Given the description of an element on the screen output the (x, y) to click on. 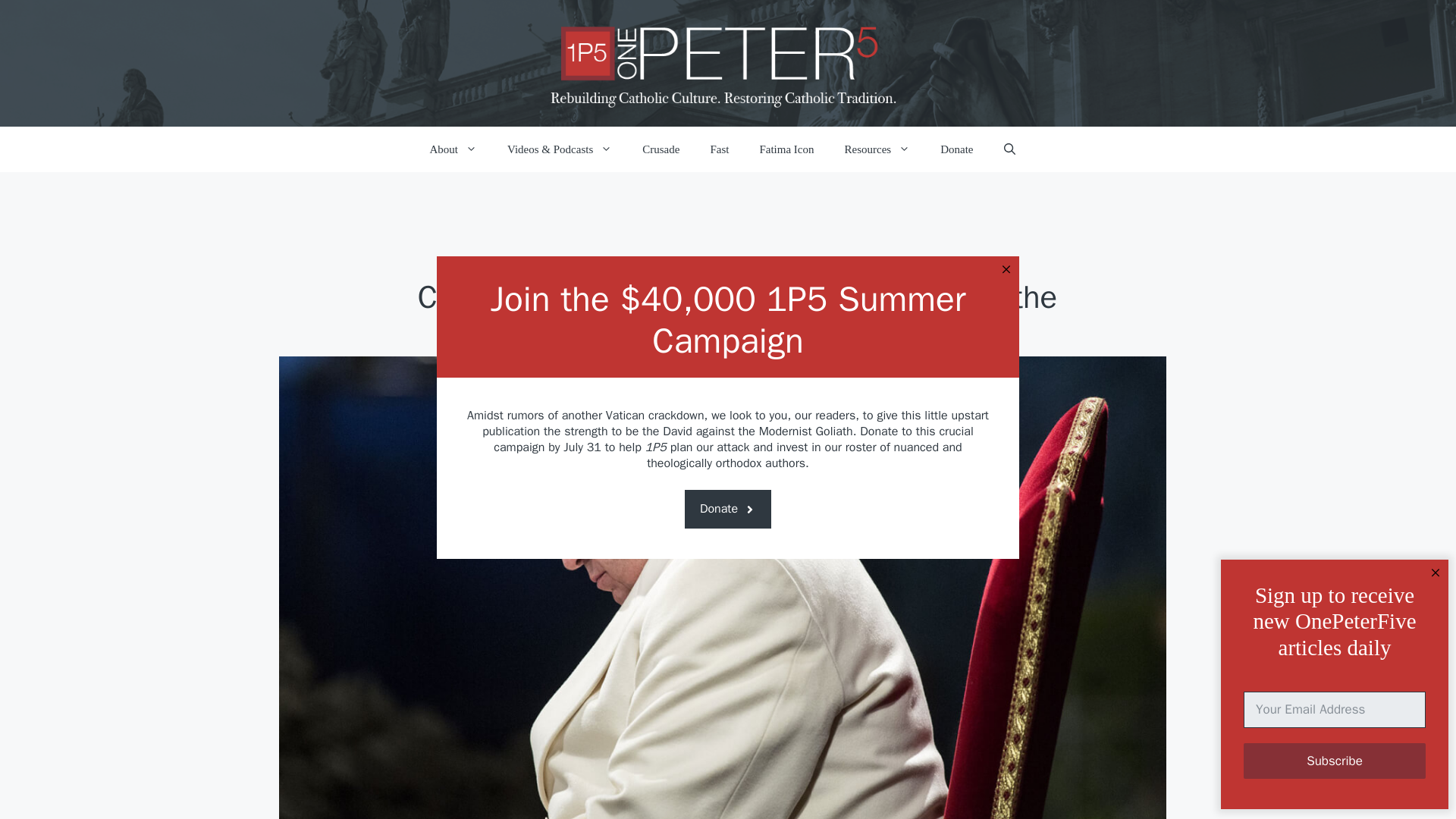
About (452, 148)
Posts by  Steve Skojec (667, 381)
Posts by  Steve Skojec (707, 381)
